Given the description of an element on the screen output the (x, y) to click on. 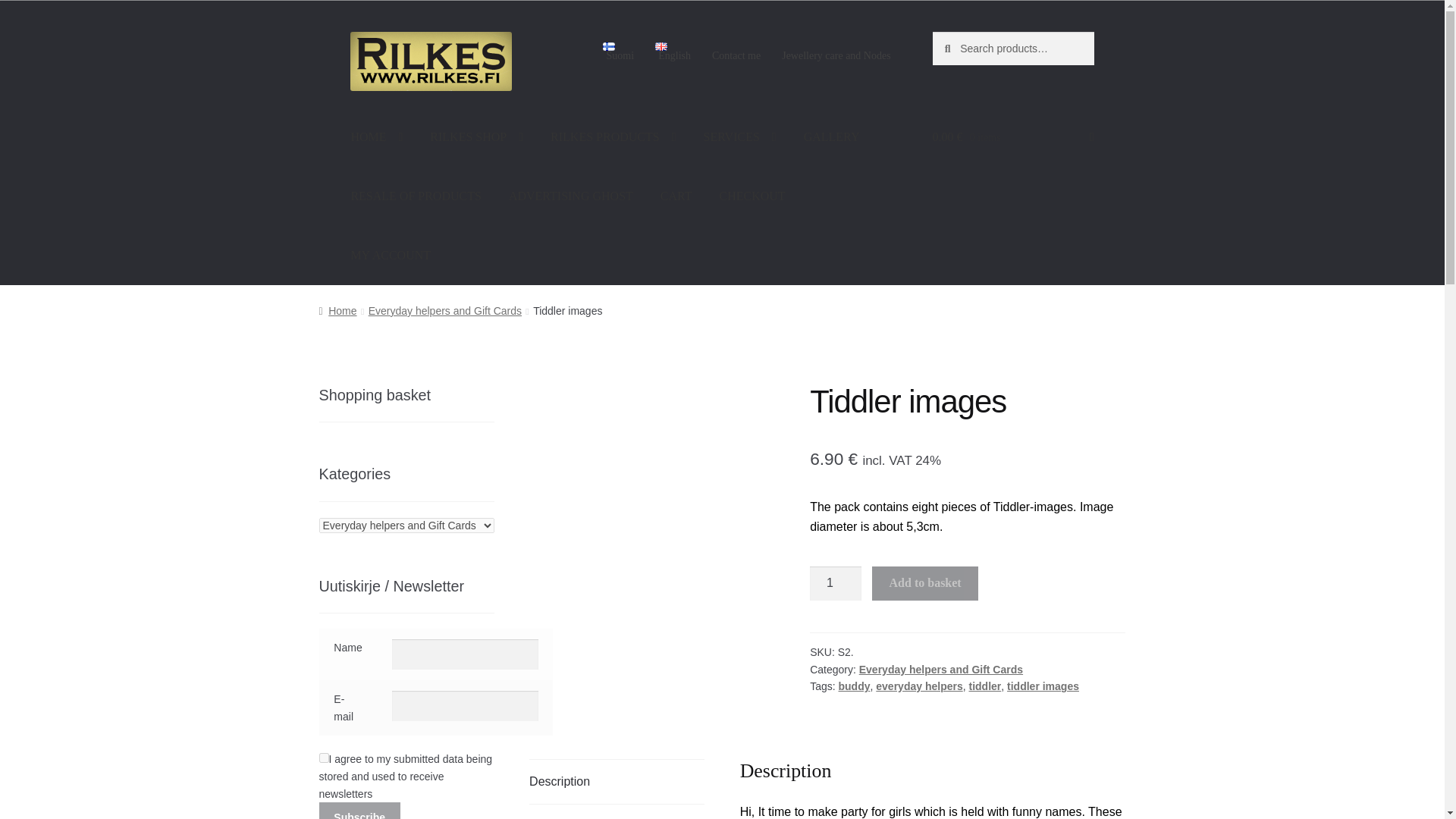
HOME (375, 137)
RILKES SHOP (476, 137)
Contact me (736, 56)
RILKES PRODUCTS (612, 137)
Jewellery care and Nodes (836, 56)
Subscribe (359, 810)
View your shopping basket (1013, 137)
SERVICES (740, 137)
